Given the description of an element on the screen output the (x, y) to click on. 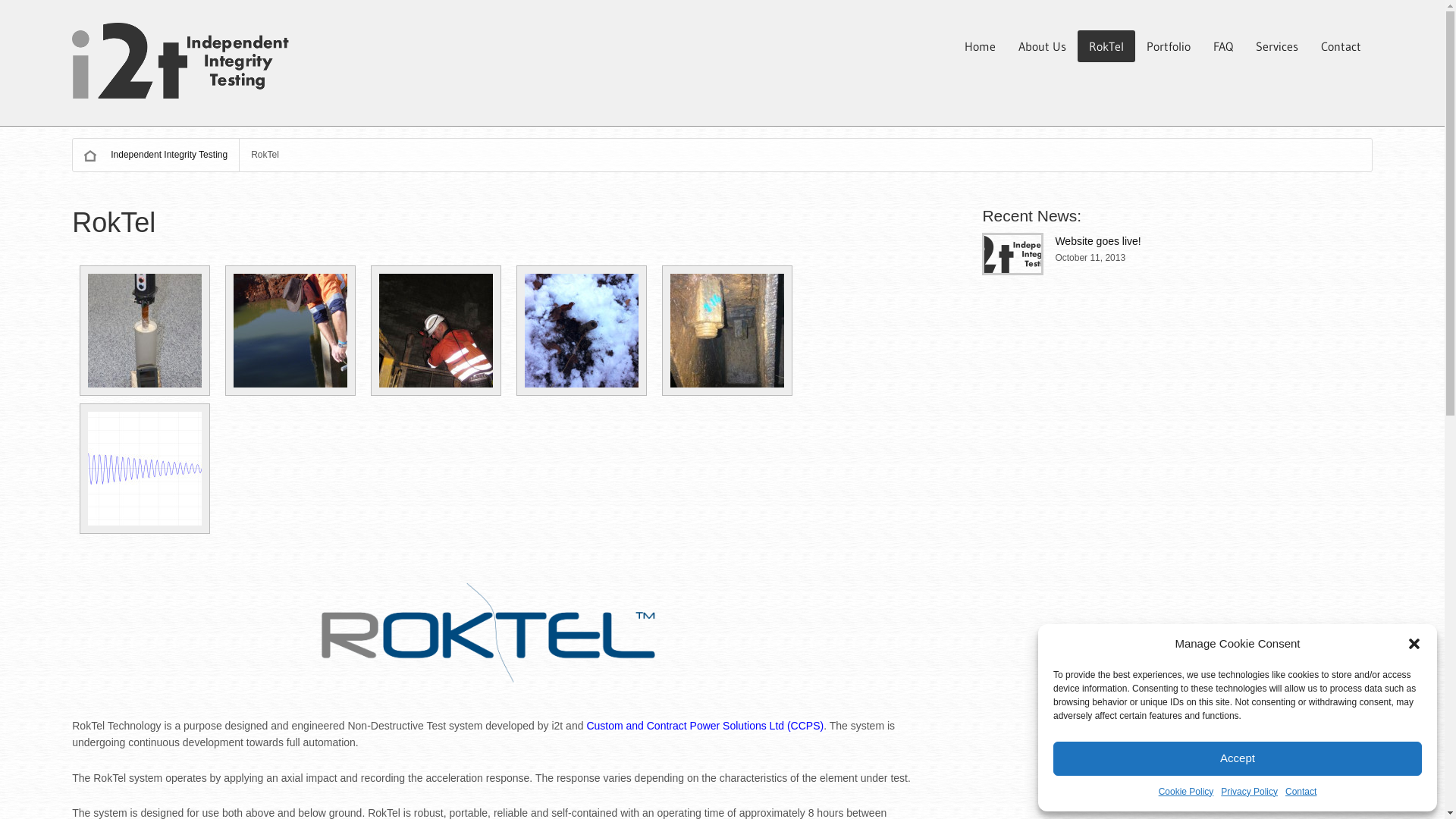
Privacy Policy Element type: text (1248, 791)
Services Element type: text (1276, 46)
Home Element type: text (980, 46)
Portfolio Element type: text (1168, 46)
Contact Element type: text (1340, 46)
Website goes live! Element type: text (1097, 241)
RokTel Element type: text (1106, 46)
Custom and Contract Power Solutions Ltd (CCPS) Element type: text (704, 725)
FAQ Element type: text (1222, 46)
Accept Element type: text (1237, 758)
Cookie Policy Element type: text (1186, 791)
About Us Element type: text (1042, 46)
Contact Element type: text (1300, 791)
Independent Integrity Testing Element type: text (155, 154)
